Given the description of an element on the screen output the (x, y) to click on. 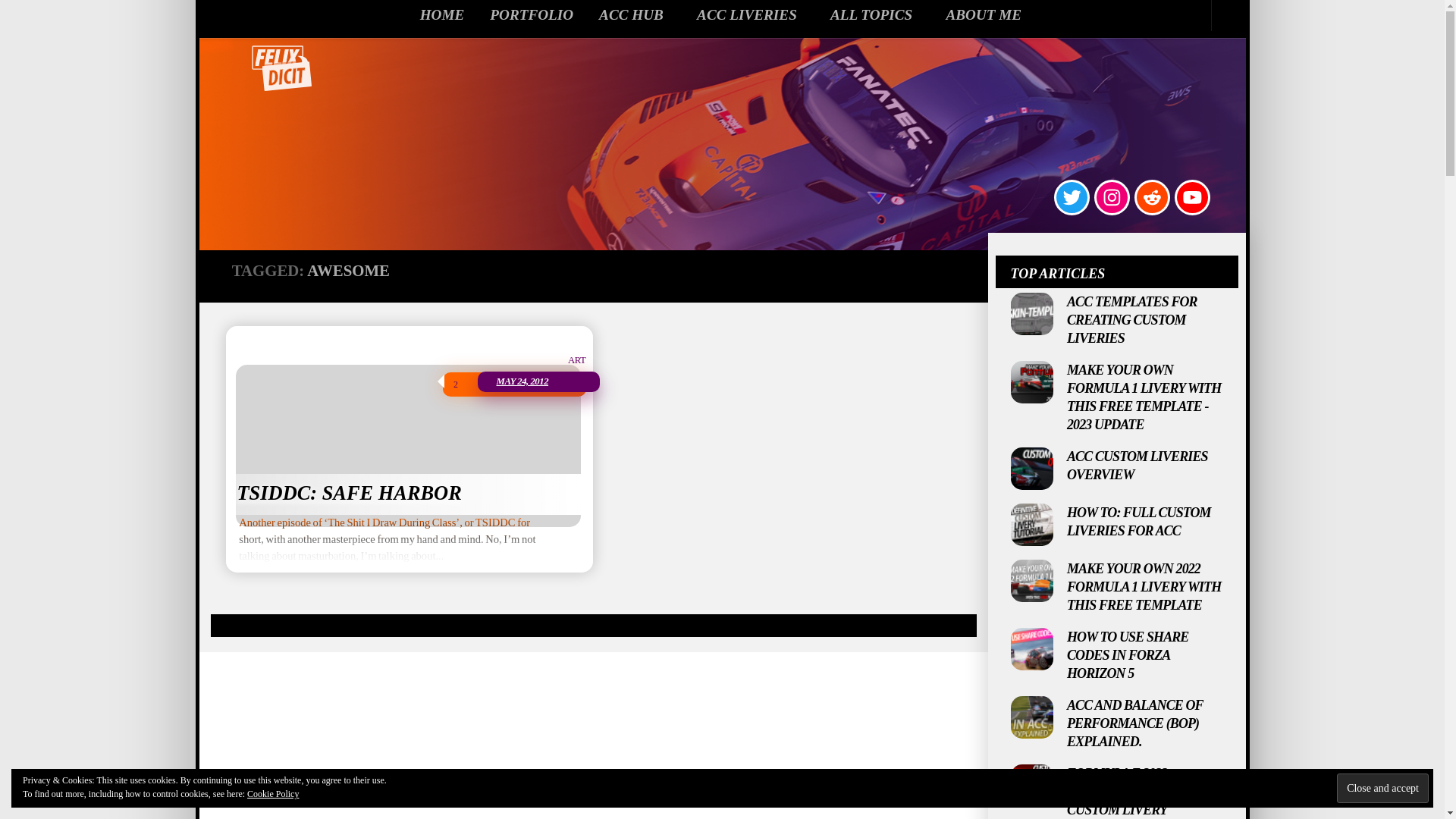
Close and accept (1382, 788)
ACC HUB (632, 15)
Skip to content (254, 20)
PORTFOLIO (528, 15)
HOME (440, 15)
